Given the description of an element on the screen output the (x, y) to click on. 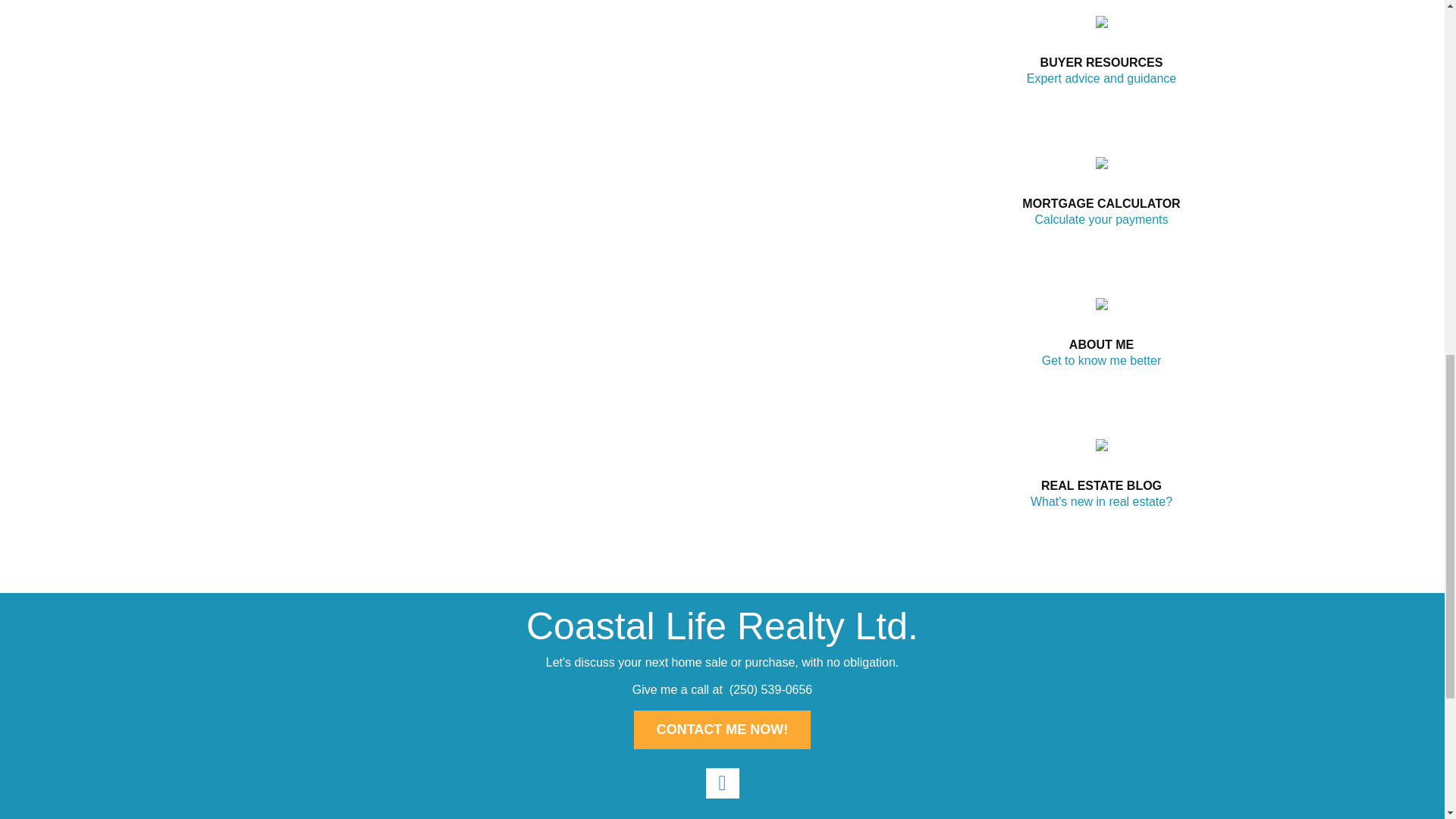
What's new in real estate? (1101, 501)
CONTACT ME NOW! (721, 729)
Get to know me better (1101, 359)
Expert advice and guidance (1101, 78)
Calculate your payments (1100, 219)
